Given the description of an element on the screen output the (x, y) to click on. 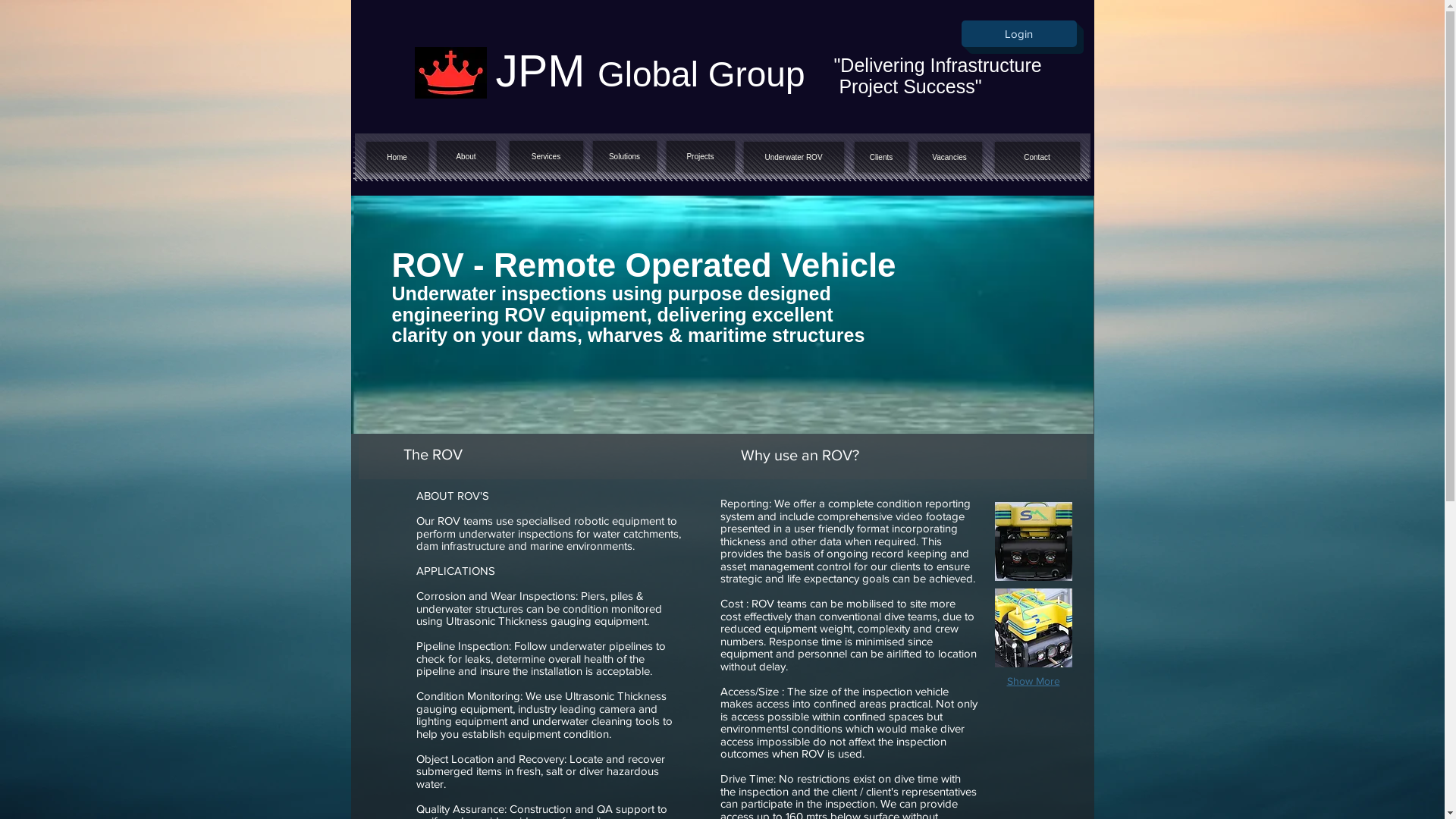
Contact Element type: text (1036, 156)
Services Element type: text (546, 156)
wm_bg_a03 Element type: hover (720, 157)
Projects Element type: text (699, 156)
Home Element type: text (396, 156)
edited seabed.jpg Element type: hover (721, 314)
wm_bg_a03 Element type: hover (722, 167)
Clients Element type: text (880, 156)
About Element type: text (465, 156)
Vacancies Element type: text (949, 156)
Underwater ROV Element type: text (793, 156)
Login Element type: text (1018, 33)
Show More Element type: text (1033, 680)
Solutions Element type: text (624, 156)
